Given the description of an element on the screen output the (x, y) to click on. 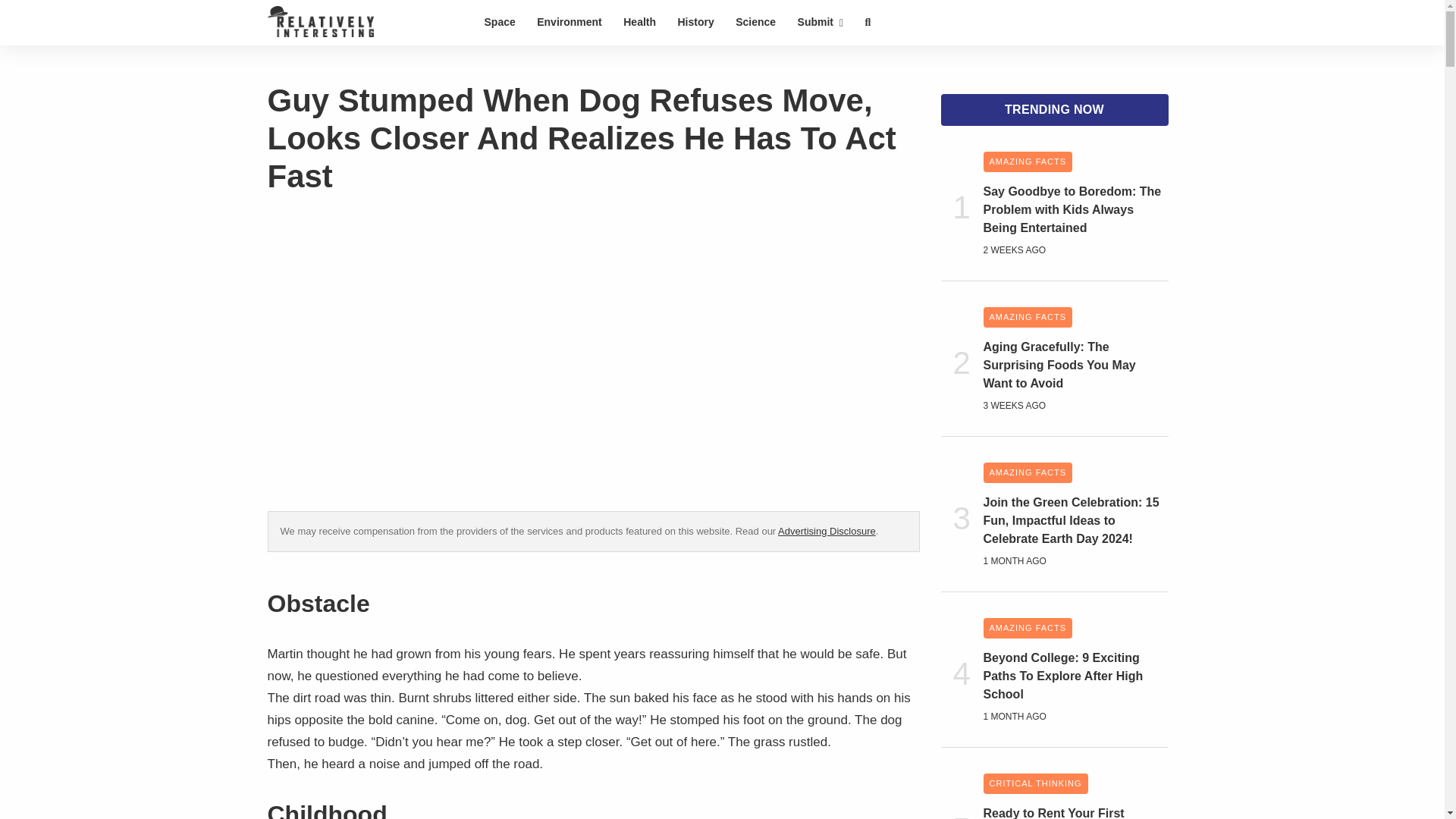
Science (755, 21)
Environment (569, 21)
AMAZING FACTS (1026, 161)
Aging Gracefully: The Surprising Foods You May Want to Avoid (1074, 365)
Health (639, 21)
Submit (821, 21)
Advertising Disclosure (826, 531)
AMAZING FACTS (1026, 472)
AMAZING FACTS (1026, 317)
History (695, 21)
CRITICAL THINKING (1034, 783)
Space (499, 21)
AMAZING FACTS (1026, 628)
